Given the description of an element on the screen output the (x, y) to click on. 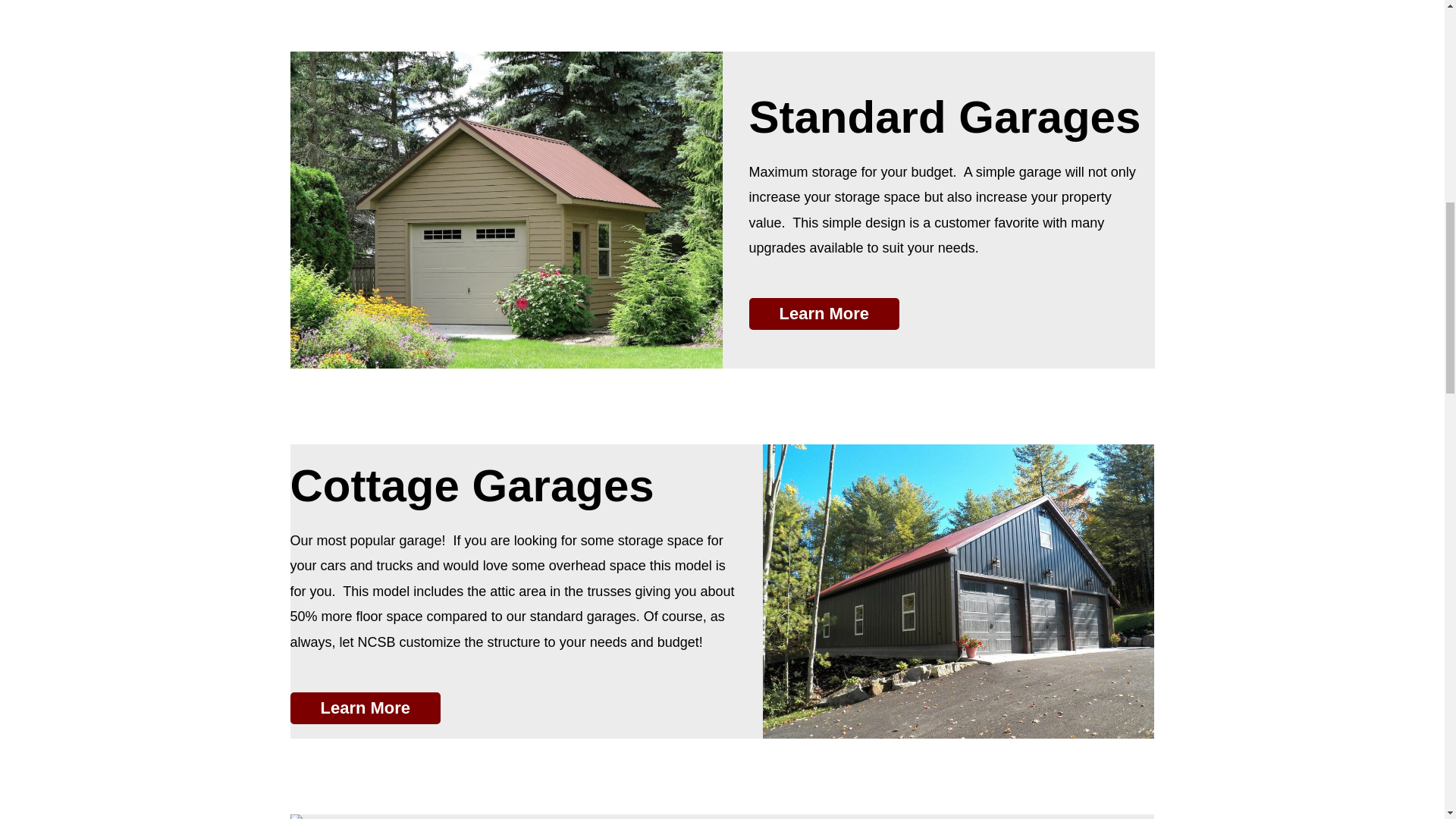
Garages 2 (958, 590)
